Given the description of an element on the screen output the (x, y) to click on. 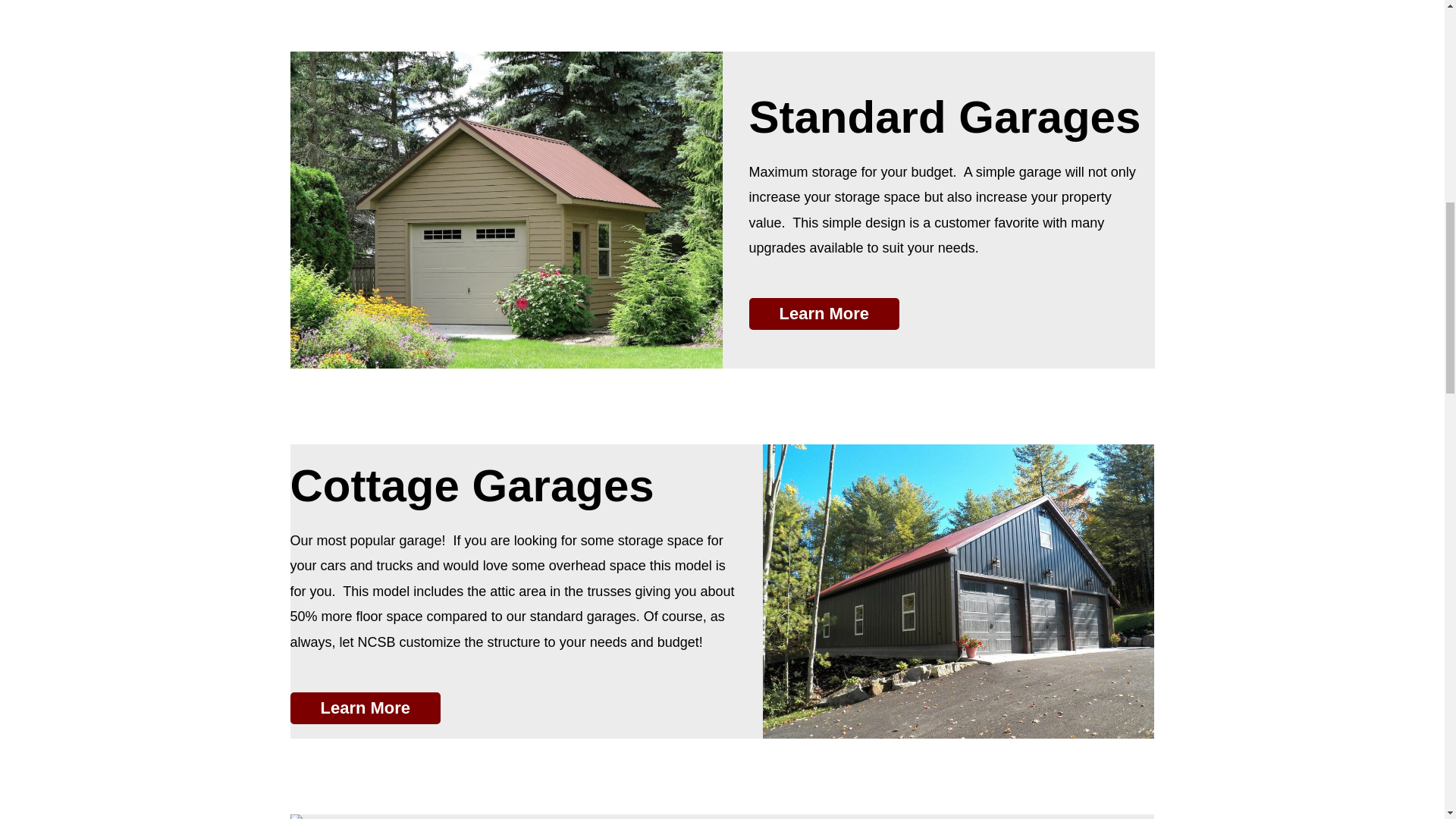
Garages 2 (958, 590)
